Given the description of an element on the screen output the (x, y) to click on. 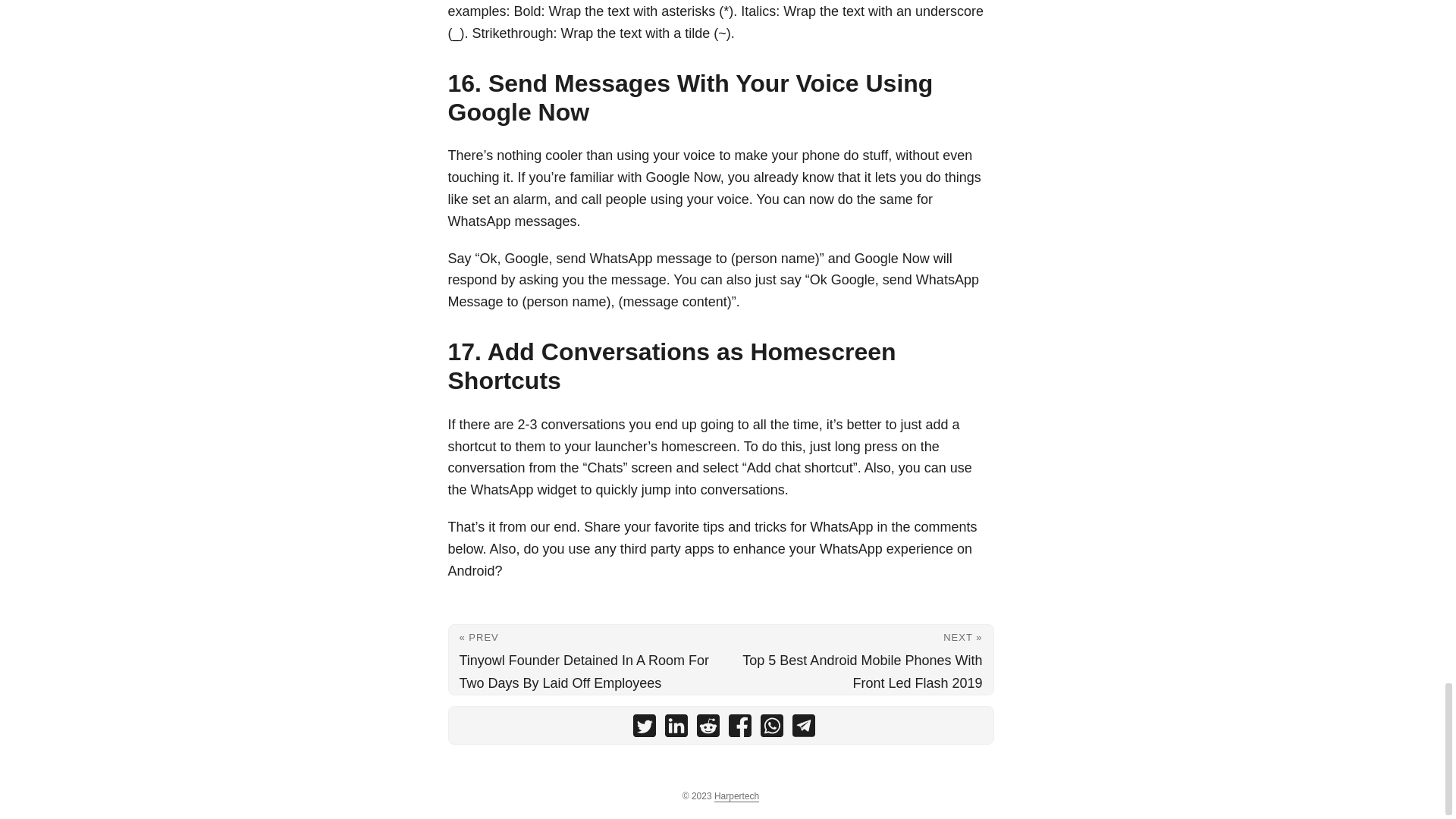
Harpertech (736, 796)
